Given the description of an element on the screen output the (x, y) to click on. 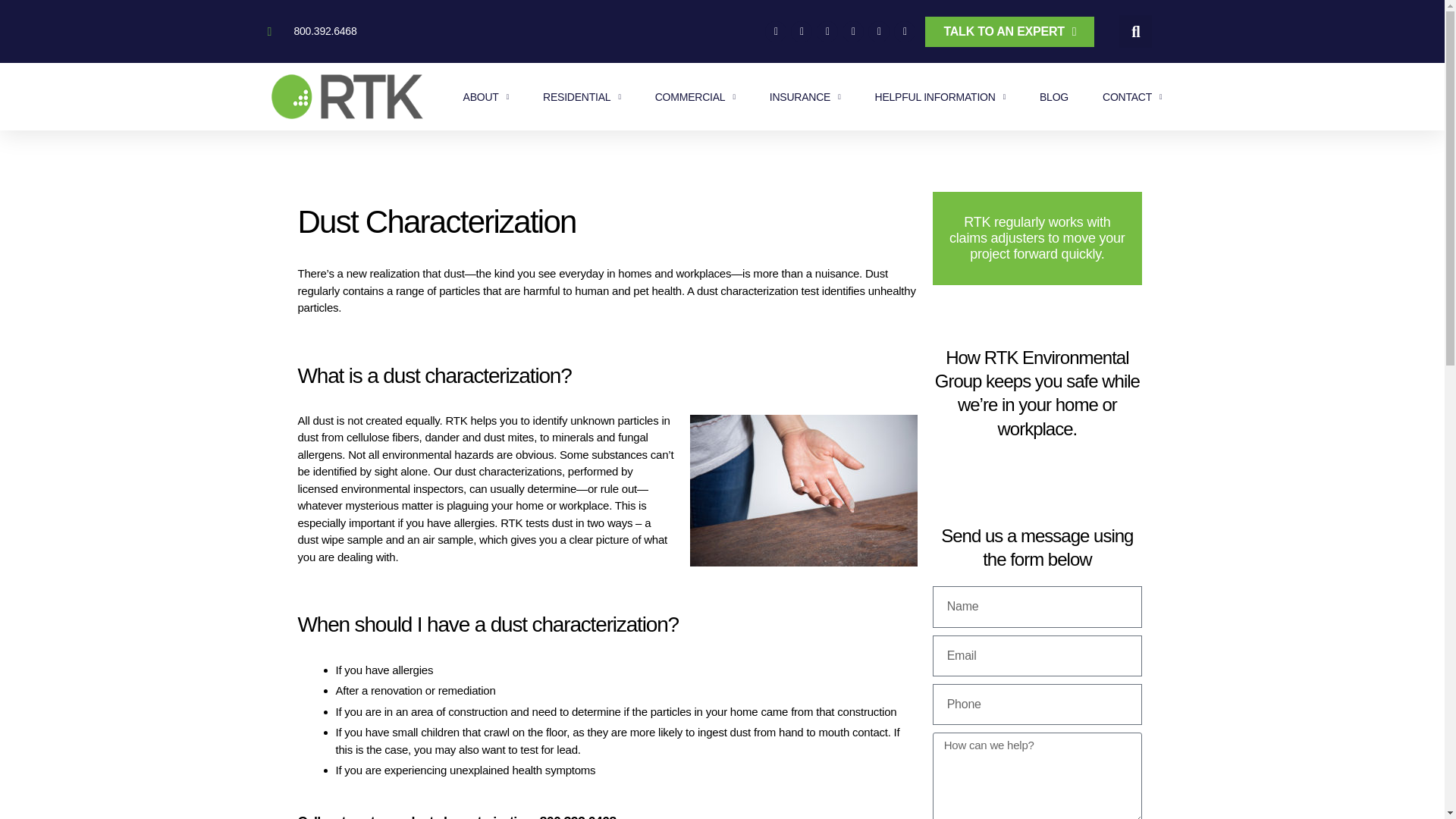
TALK TO AN EXPERT (1009, 31)
ABOUT (485, 96)
RESIDENTIAL (582, 96)
